Given the description of an element on the screen output the (x, y) to click on. 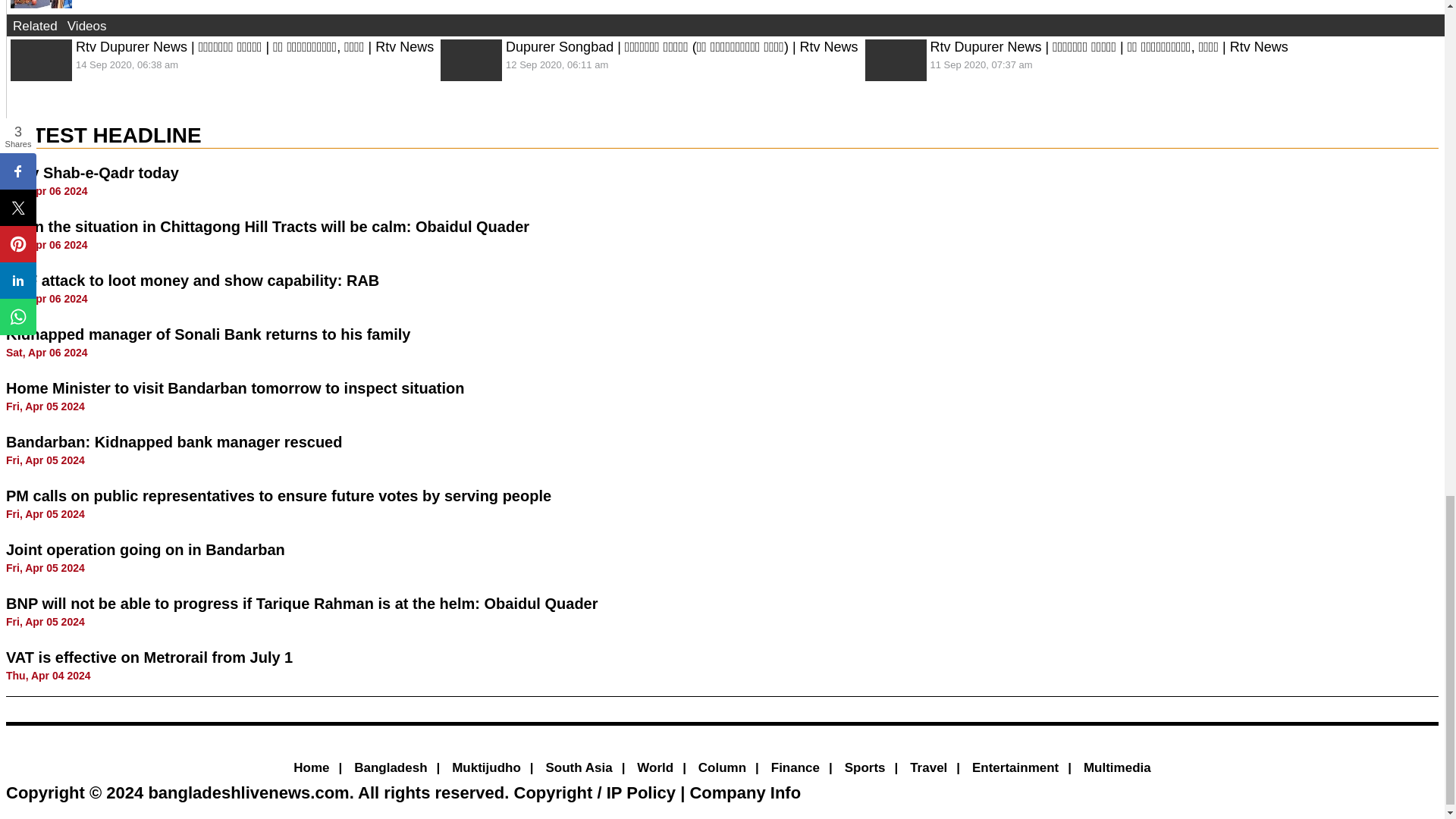
Holy Shab-e-Qadr today (92, 172)
VAT is effective on Metrorail from July 1 (148, 657)
Bandarban: Kidnapped bank manager rescued (173, 442)
KNF attack to loot money and show capability: RAB (191, 280)
Joint operation going on in Bandarban (145, 549)
Kidnapped manager of Sonali Bank returns to his family (207, 334)
